Given the description of an element on the screen output the (x, y) to click on. 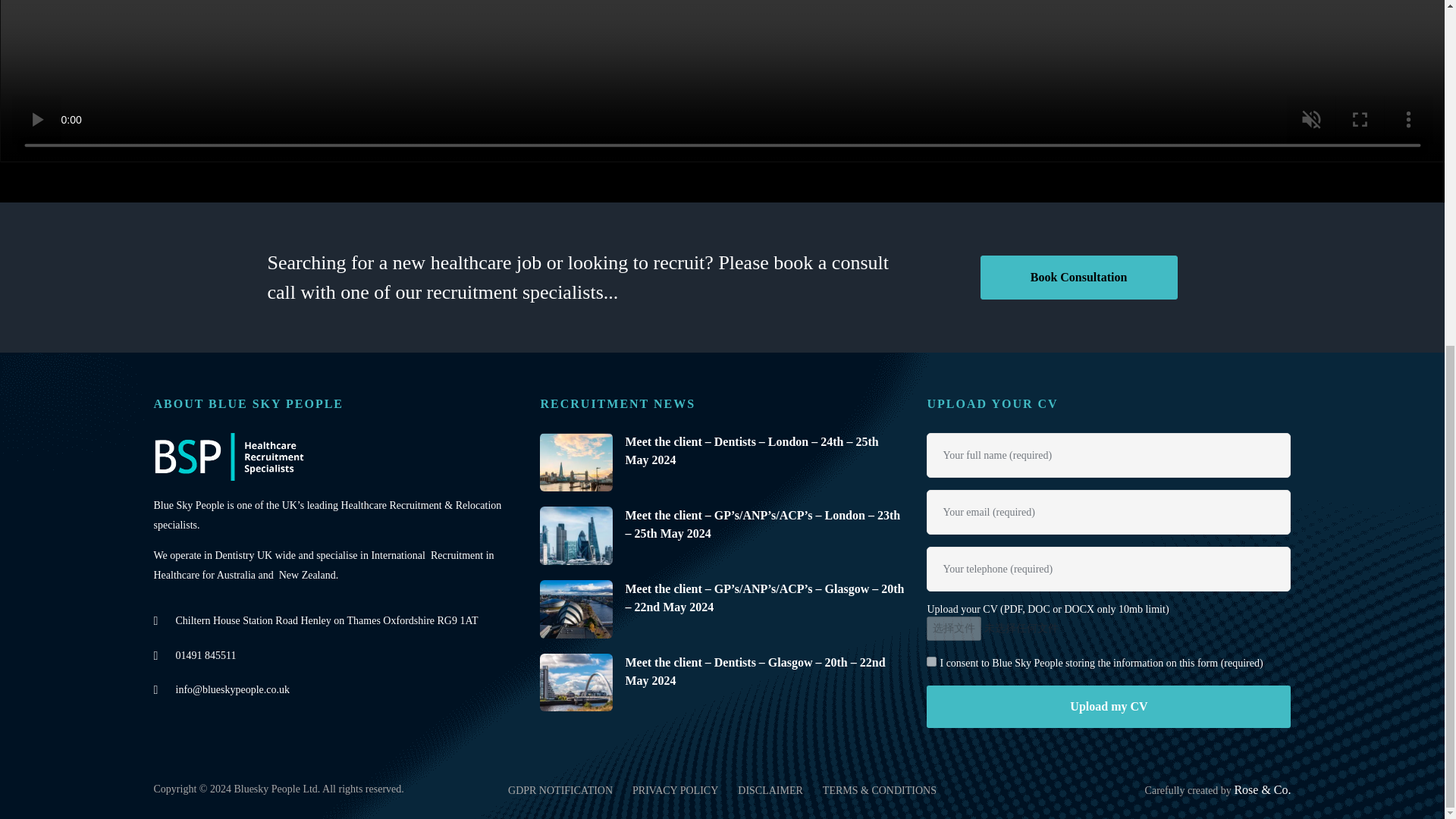
on (931, 661)
